Given the description of an element on the screen output the (x, y) to click on. 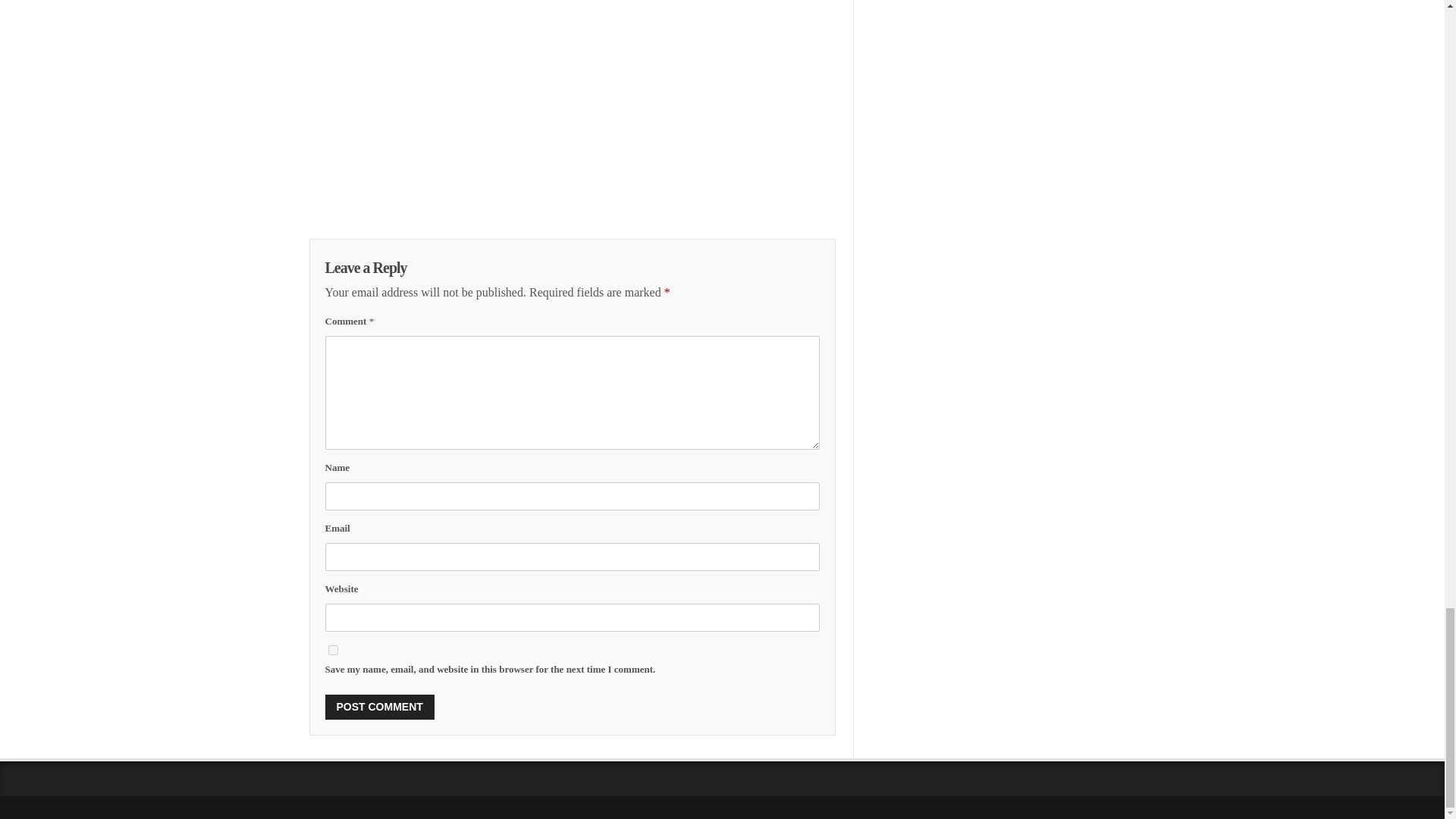
Post Comment (378, 706)
yes (332, 650)
